Given the description of an element on the screen output the (x, y) to click on. 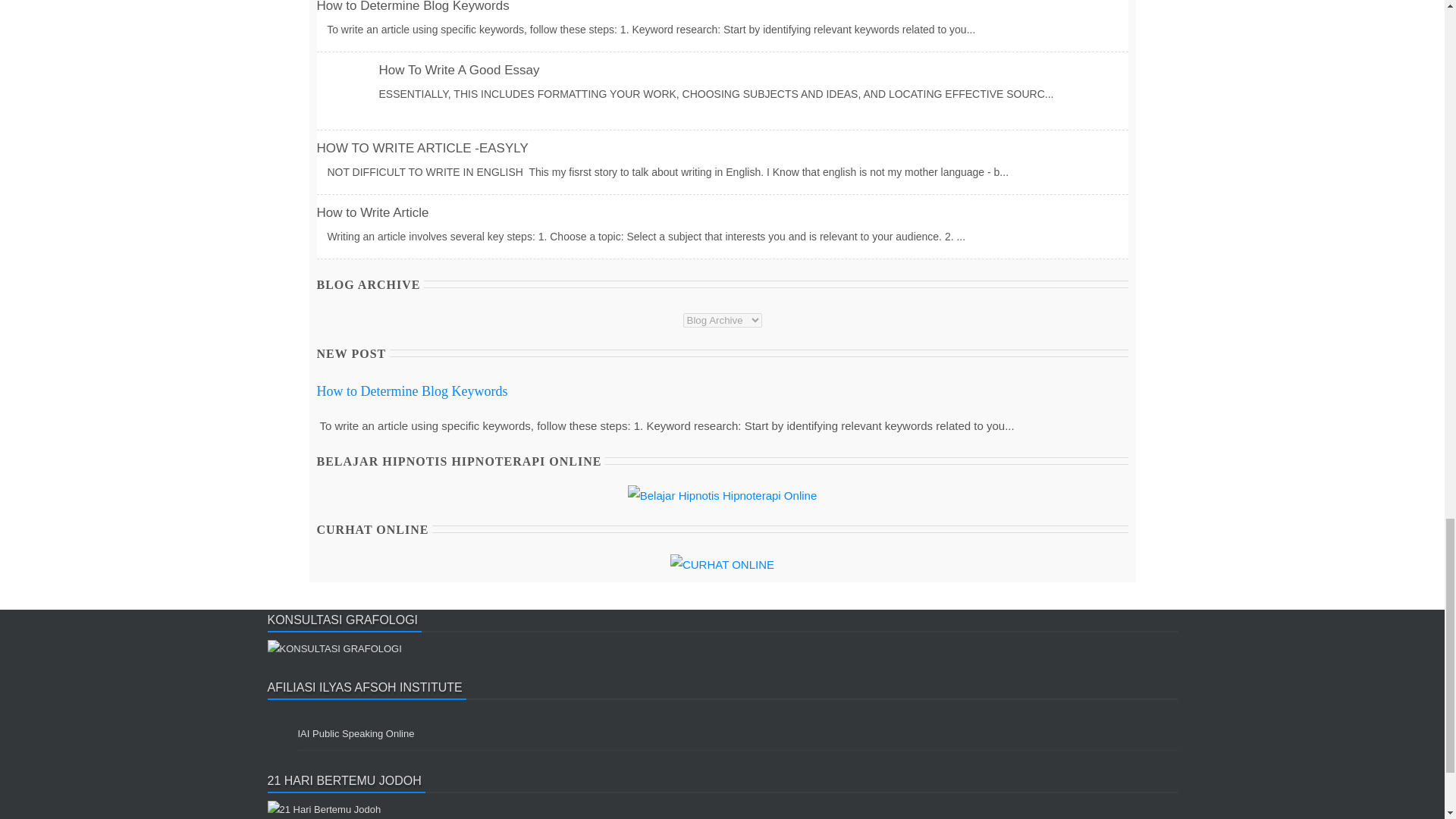
How to Write Article (373, 212)
How to Determine Blog Keywords (413, 6)
How to Determine Blog Keywords (412, 391)
HOW TO WRITE ARTICLE -EASYLY (422, 147)
How To Write A Good Essay (459, 69)
